Given the description of an element on the screen output the (x, y) to click on. 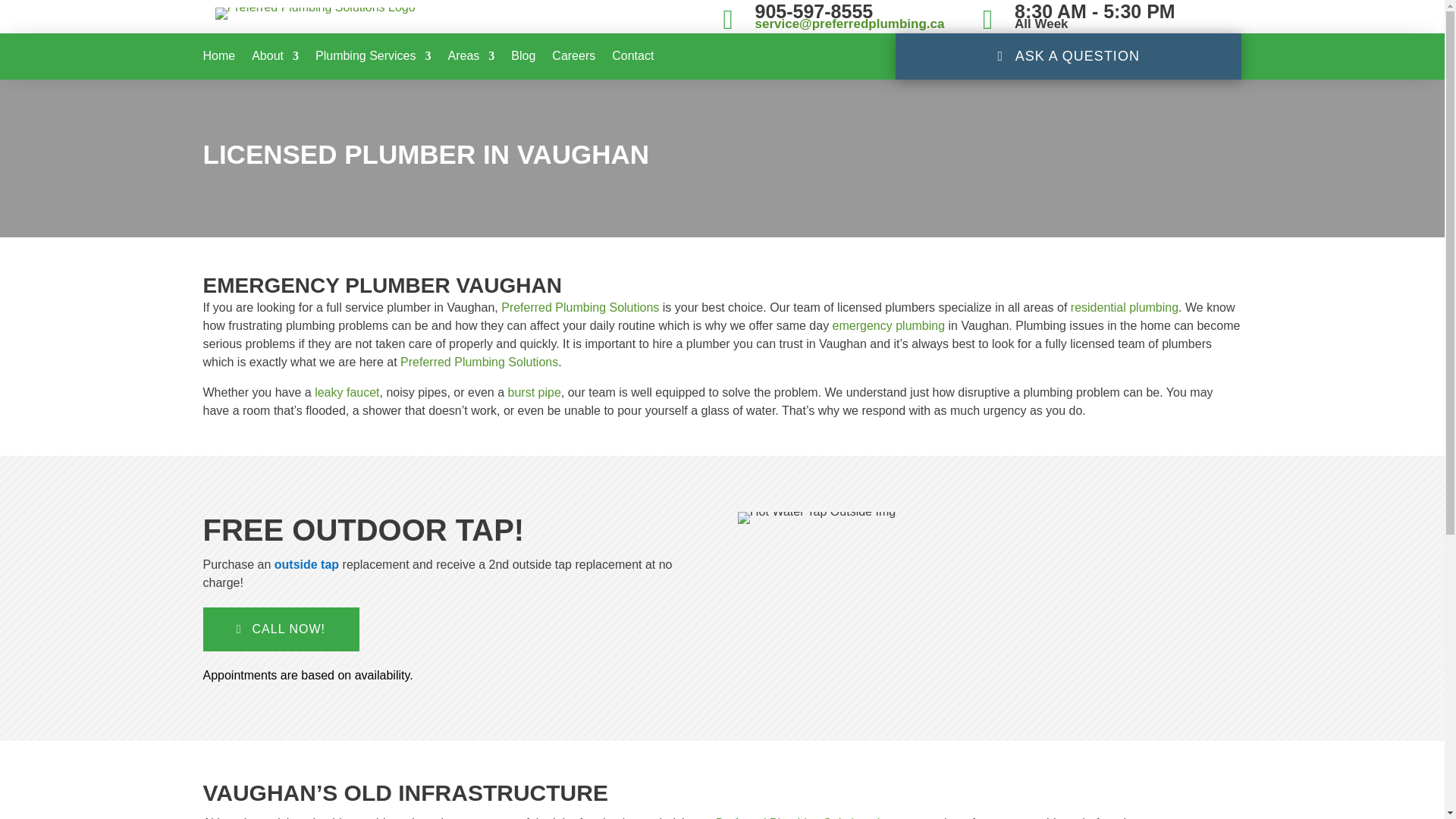
Residential Plumbing Services (1123, 307)
Licensed Plumber Near Me (579, 307)
Preferred Plumbing Solutions Inc (803, 817)
Burst Pipe (534, 391)
Licensed Plumber Near Me (478, 361)
Hot Water Tap Outside (307, 563)
Emergency Plumber (888, 325)
Hot Water Tap Outside Img (816, 517)
Leaky Faucet (346, 391)
Preferred Plumbing Solutions Logo (314, 13)
